Given the description of an element on the screen output the (x, y) to click on. 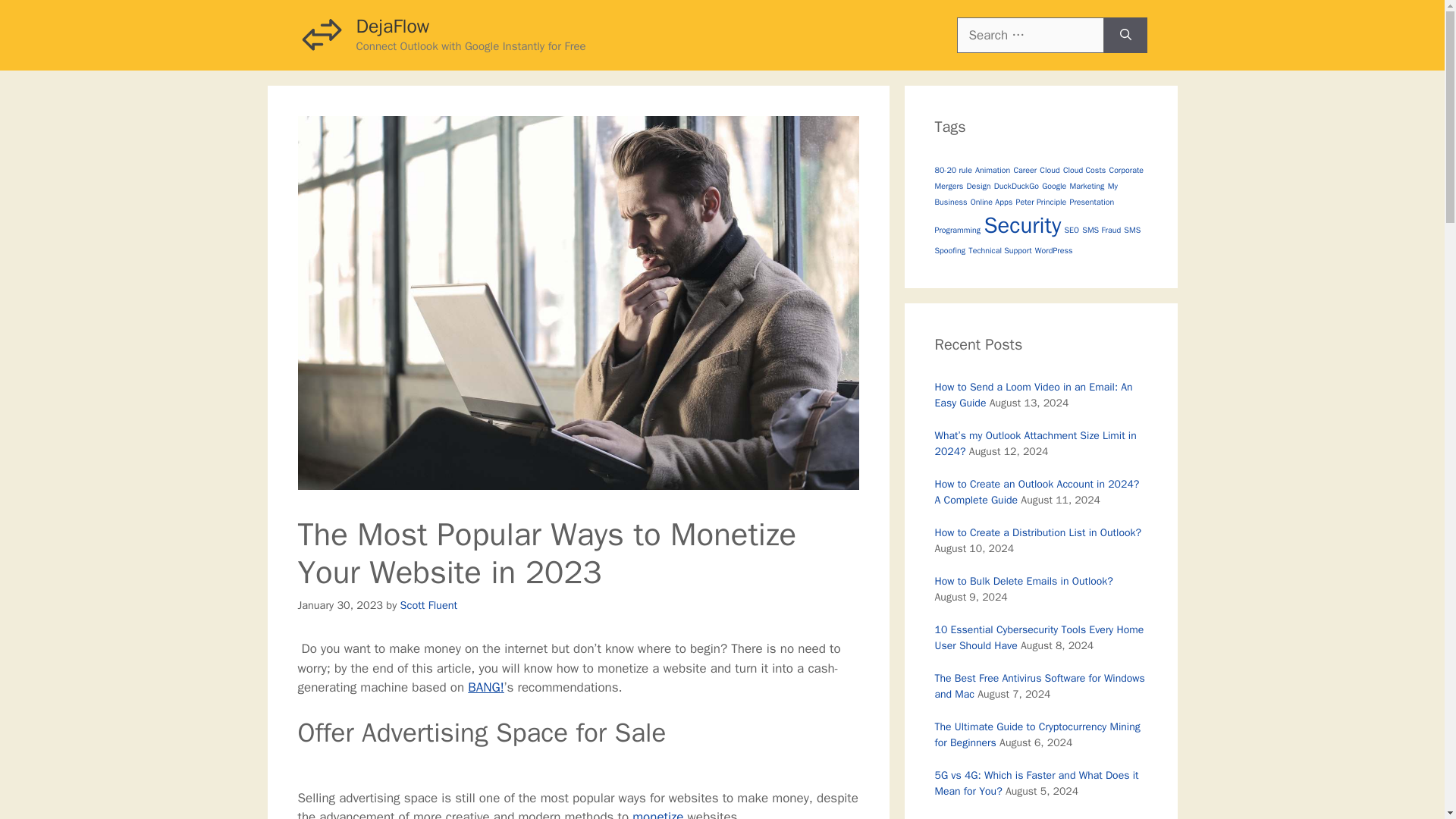
Presentation (1090, 202)
Online Apps (992, 202)
DejaFlow (392, 25)
SMS Fraud (1101, 229)
Cloud Costs (1083, 170)
Technical Support (999, 250)
Peter Principle (1039, 202)
BANG! (485, 687)
Career (1024, 170)
Corporate Mergers (1038, 177)
